Given the description of an element on the screen output the (x, y) to click on. 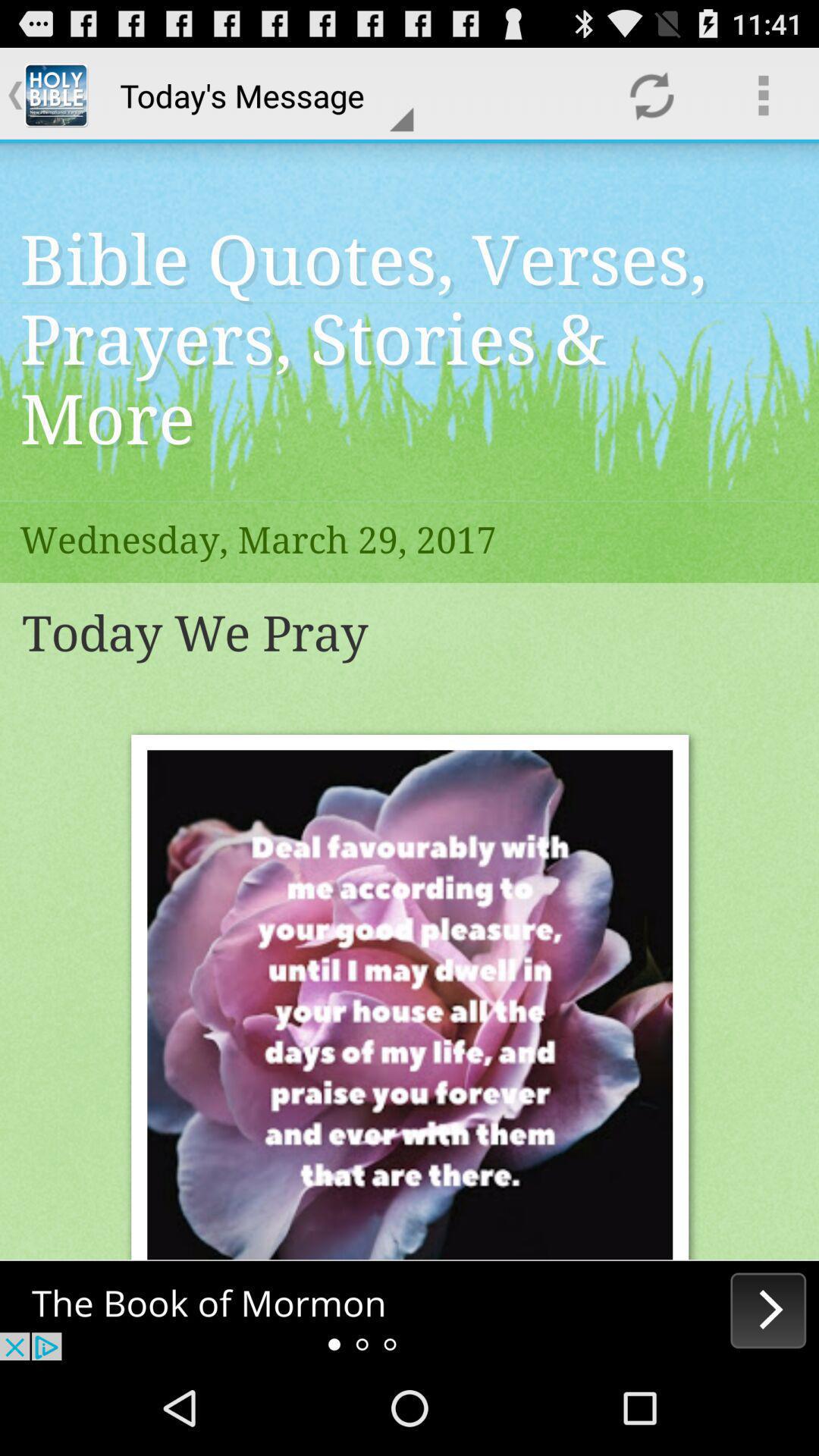
open this advertisement (409, 1310)
